Given the description of an element on the screen output the (x, y) to click on. 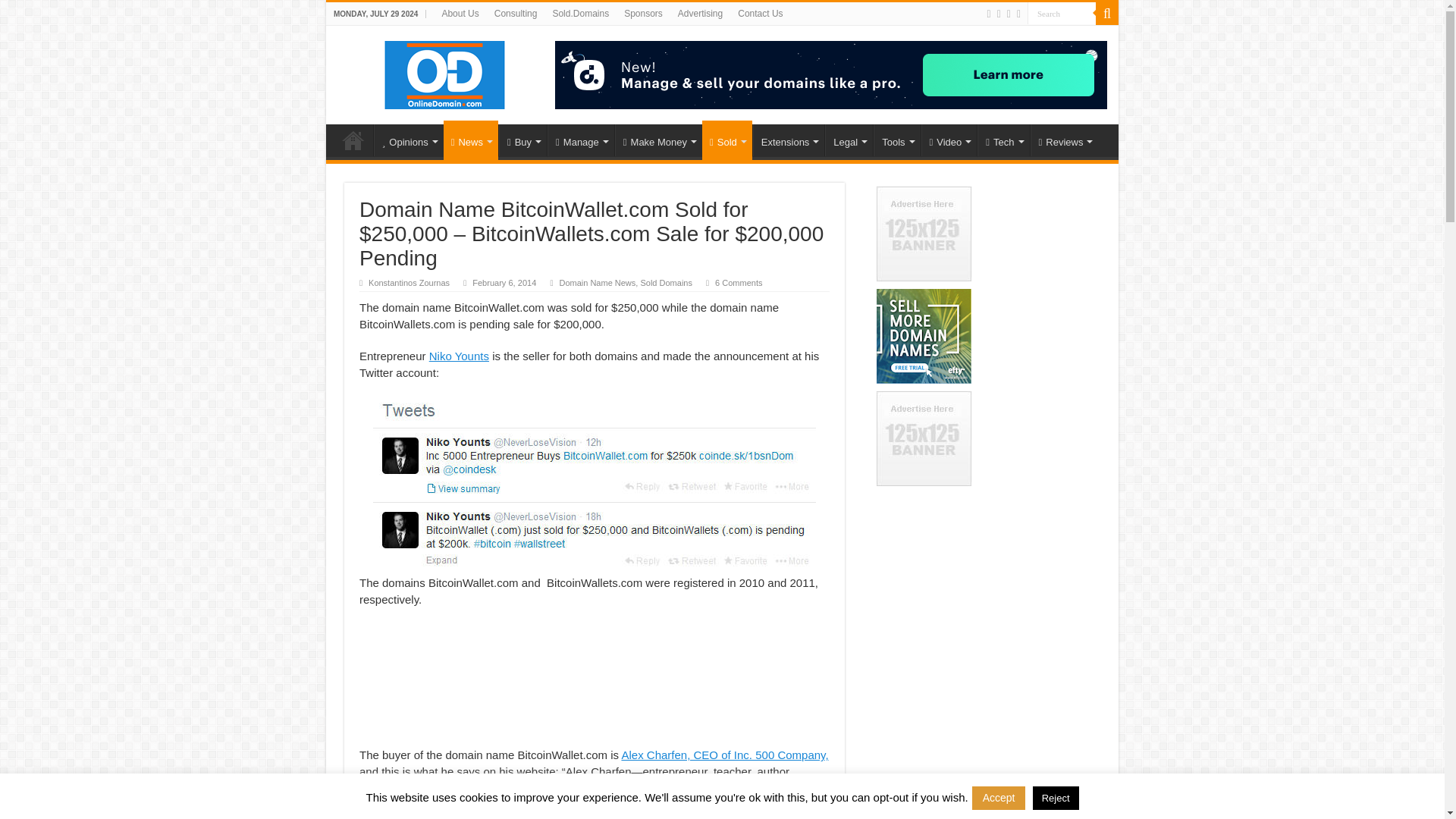
Search (1061, 13)
Sold.Domains (579, 13)
Search (1061, 13)
Contact Us (760, 13)
Sponsors (642, 13)
OnlineDomain.com (445, 72)
About Us (459, 13)
Consulting (515, 13)
Search (1061, 13)
Search (1107, 13)
Advertising (699, 13)
Home (352, 140)
